Given the description of an element on the screen output the (x, y) to click on. 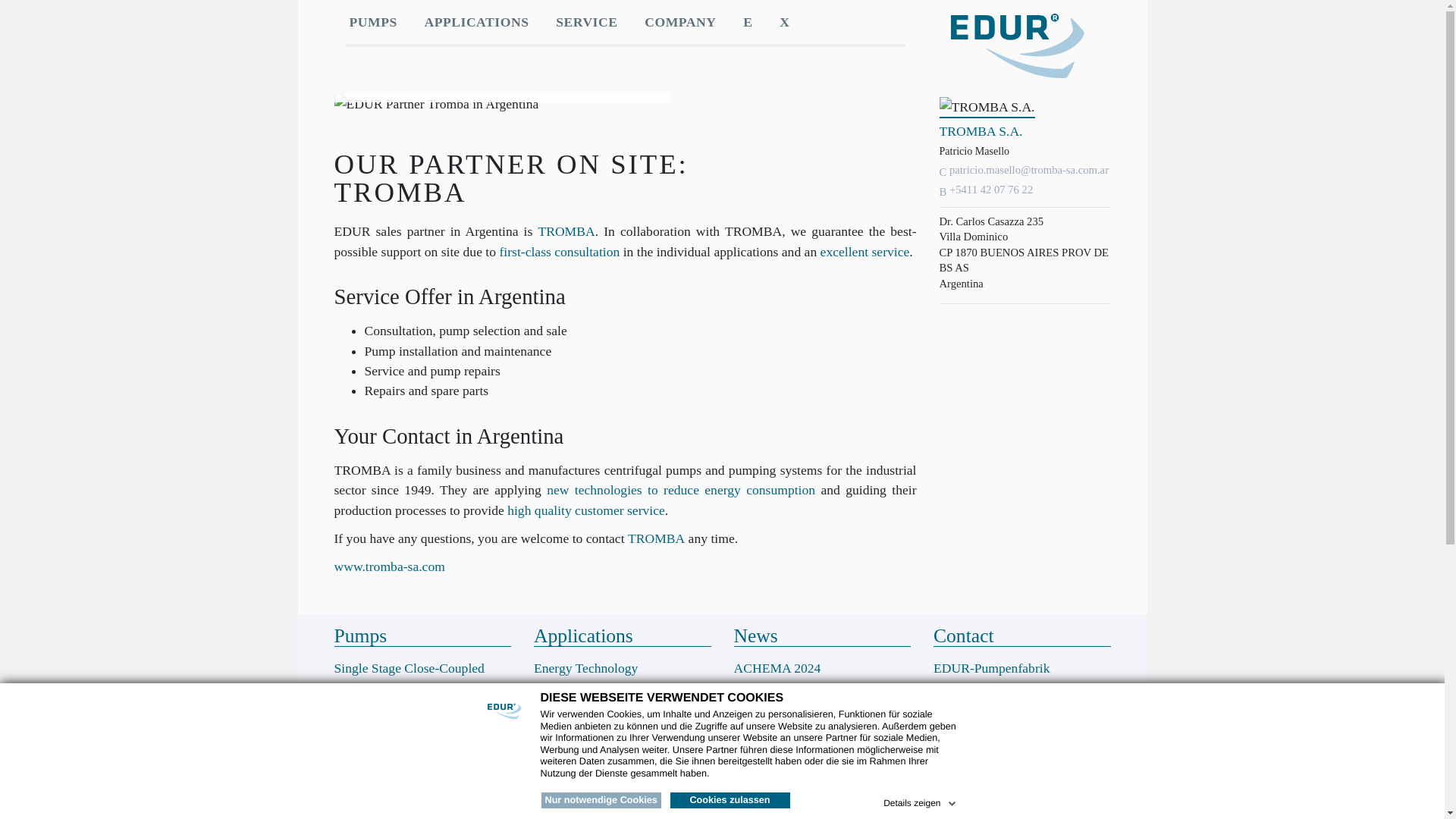
Cookies zulassen (729, 800)
Details zeigen (920, 800)
PUMPS (372, 21)
Nur notwendige Cookies (601, 800)
APPLICATIONS (476, 21)
